Given the description of an element on the screen output the (x, y) to click on. 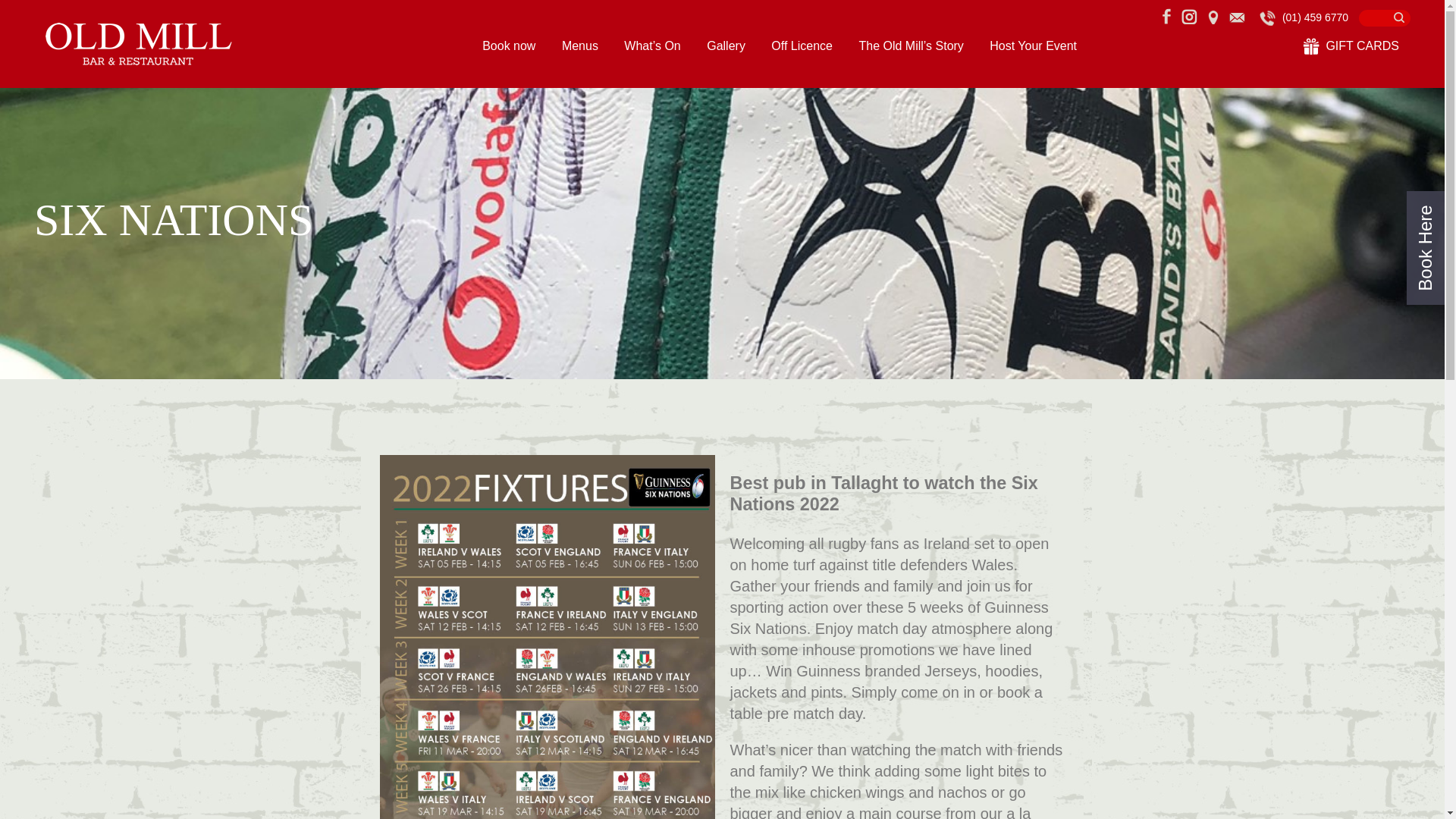
Menus (580, 46)
GIFT CARDS (1351, 46)
Off Licence (801, 46)
Book now (508, 46)
Search (1384, 17)
Host Your Event (1033, 46)
Gallery (725, 46)
